Given the description of an element on the screen output the (x, y) to click on. 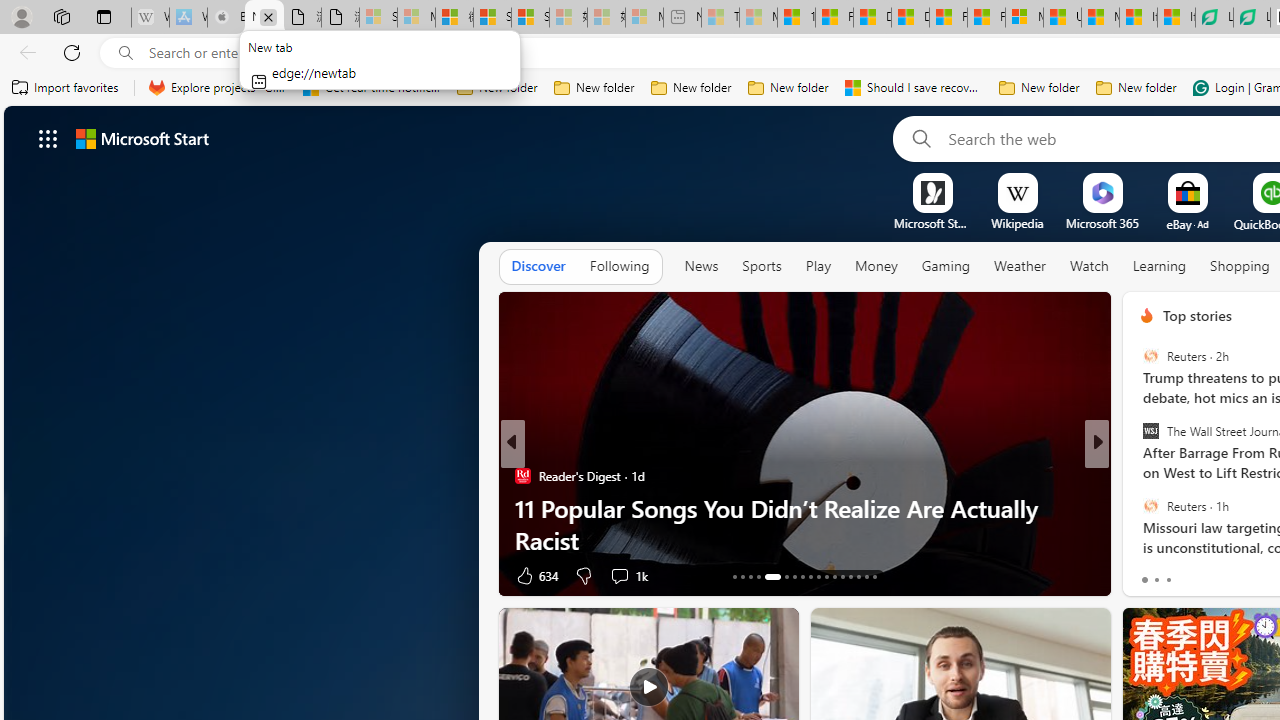
Totally The Bomb (1138, 507)
View comments 1k Comment (628, 574)
View comments 86 Comment (1244, 574)
AutomationID: tab-43 (857, 576)
768 Like (1151, 574)
Import favorites (65, 88)
Newsweek (1138, 475)
The Wall Street Journal (1149, 431)
AutomationID: tab-24 (833, 576)
AutomationID: tab-13 (733, 576)
LendingTree - Compare Lenders (1251, 17)
